Given the description of an element on the screen output the (x, y) to click on. 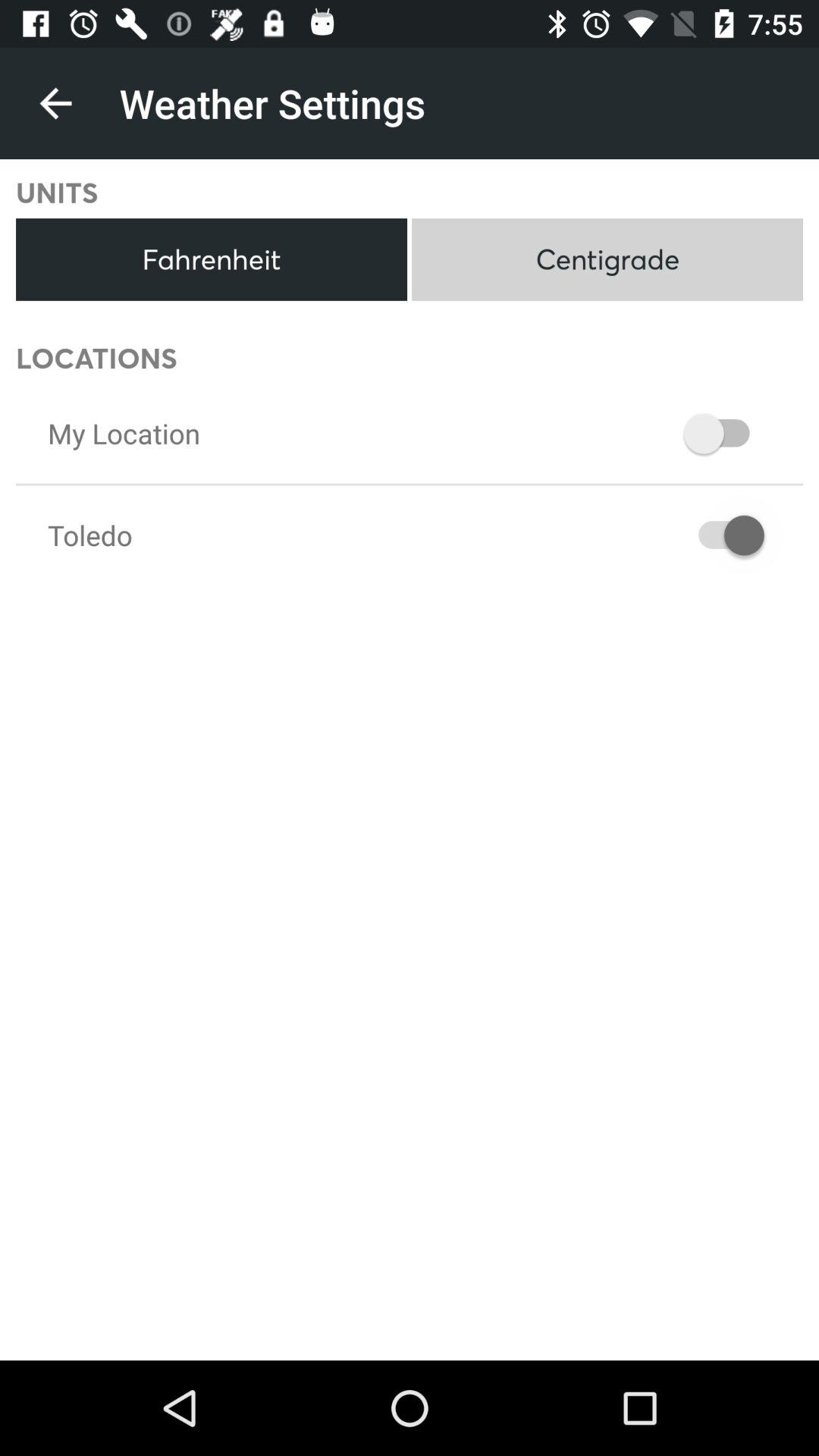
turn off the item next to the weather settings icon (55, 103)
